Given the description of an element on the screen output the (x, y) to click on. 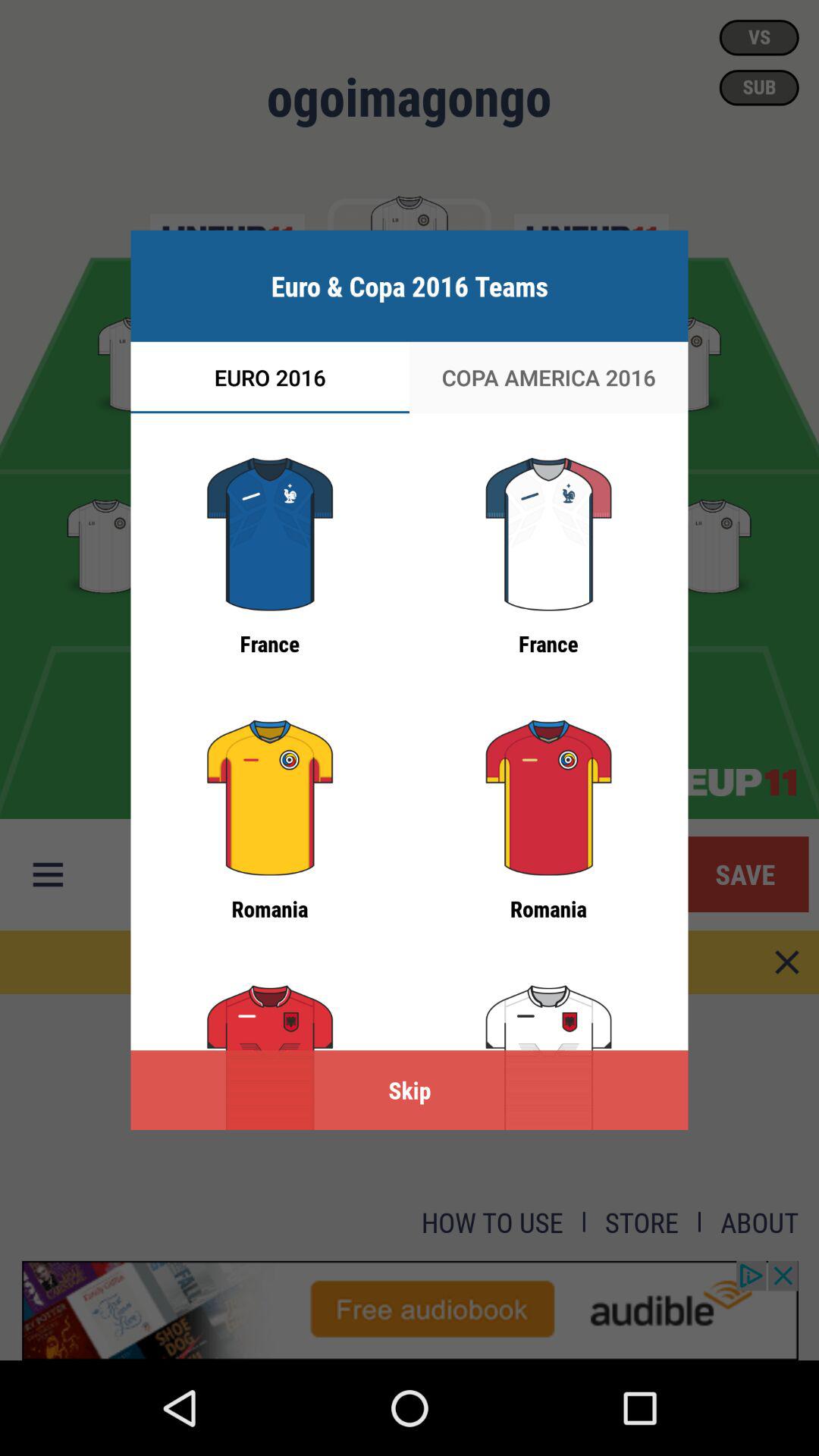
press the skip icon (409, 1090)
